Given the description of an element on the screen output the (x, y) to click on. 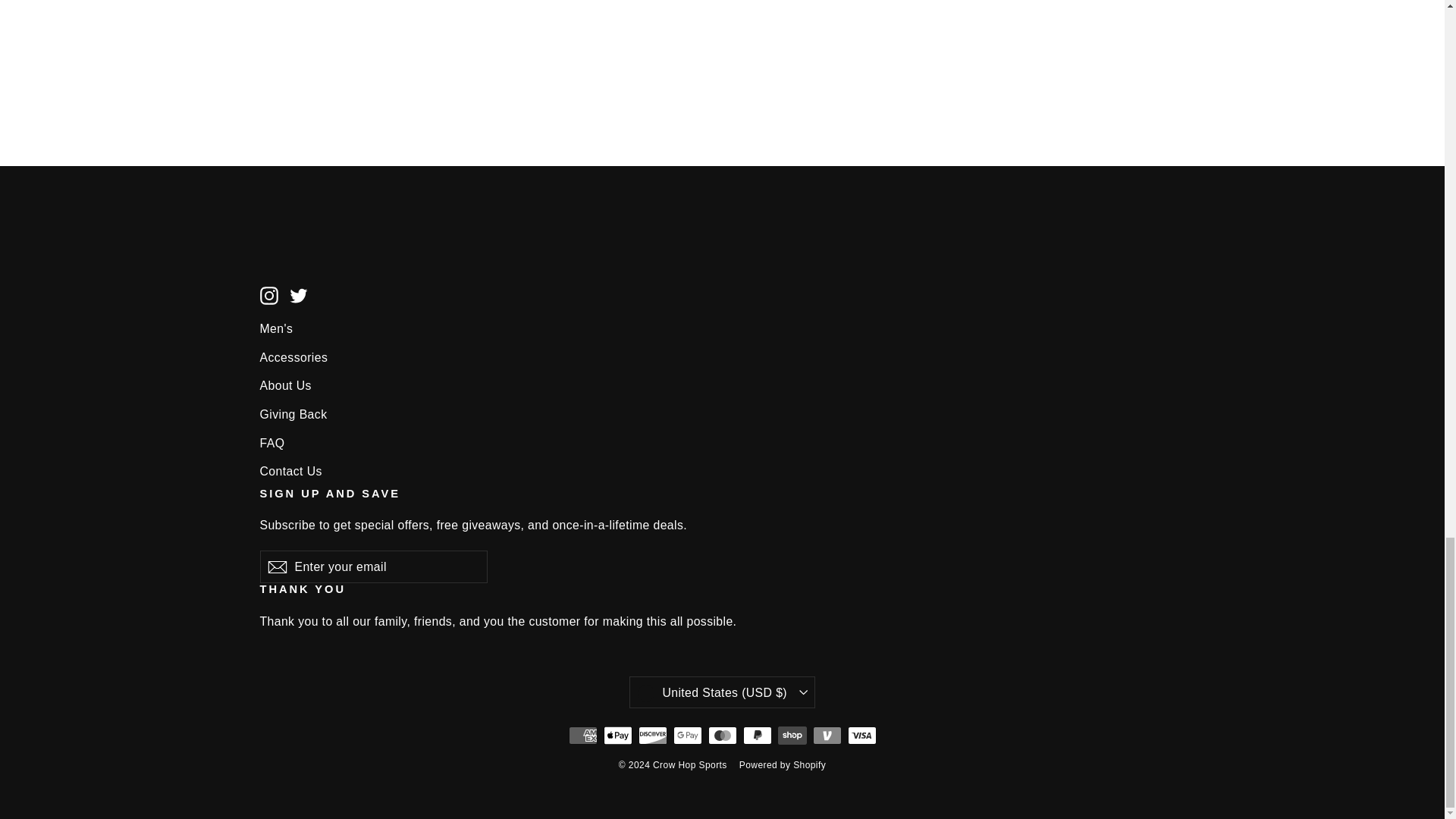
icon-email (276, 566)
American Express (582, 735)
Crow Hop Sports on Twitter (298, 294)
instagram (268, 295)
twitter (298, 295)
Discover (652, 735)
Apple Pay (617, 735)
Google Pay (686, 735)
